Given the description of an element on the screen output the (x, y) to click on. 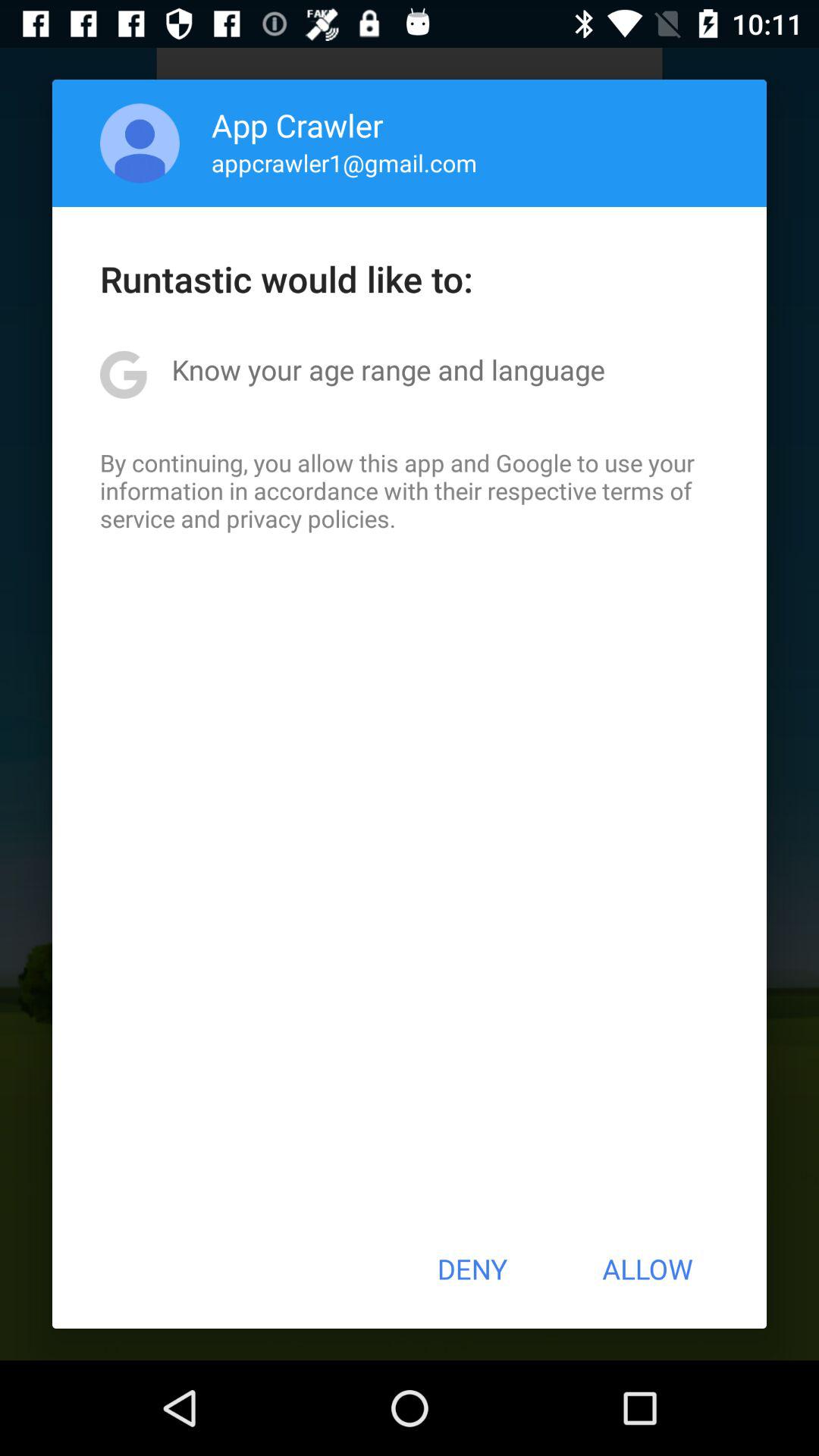
tap the icon above the runtastic would like item (139, 143)
